Given the description of an element on the screen output the (x, y) to click on. 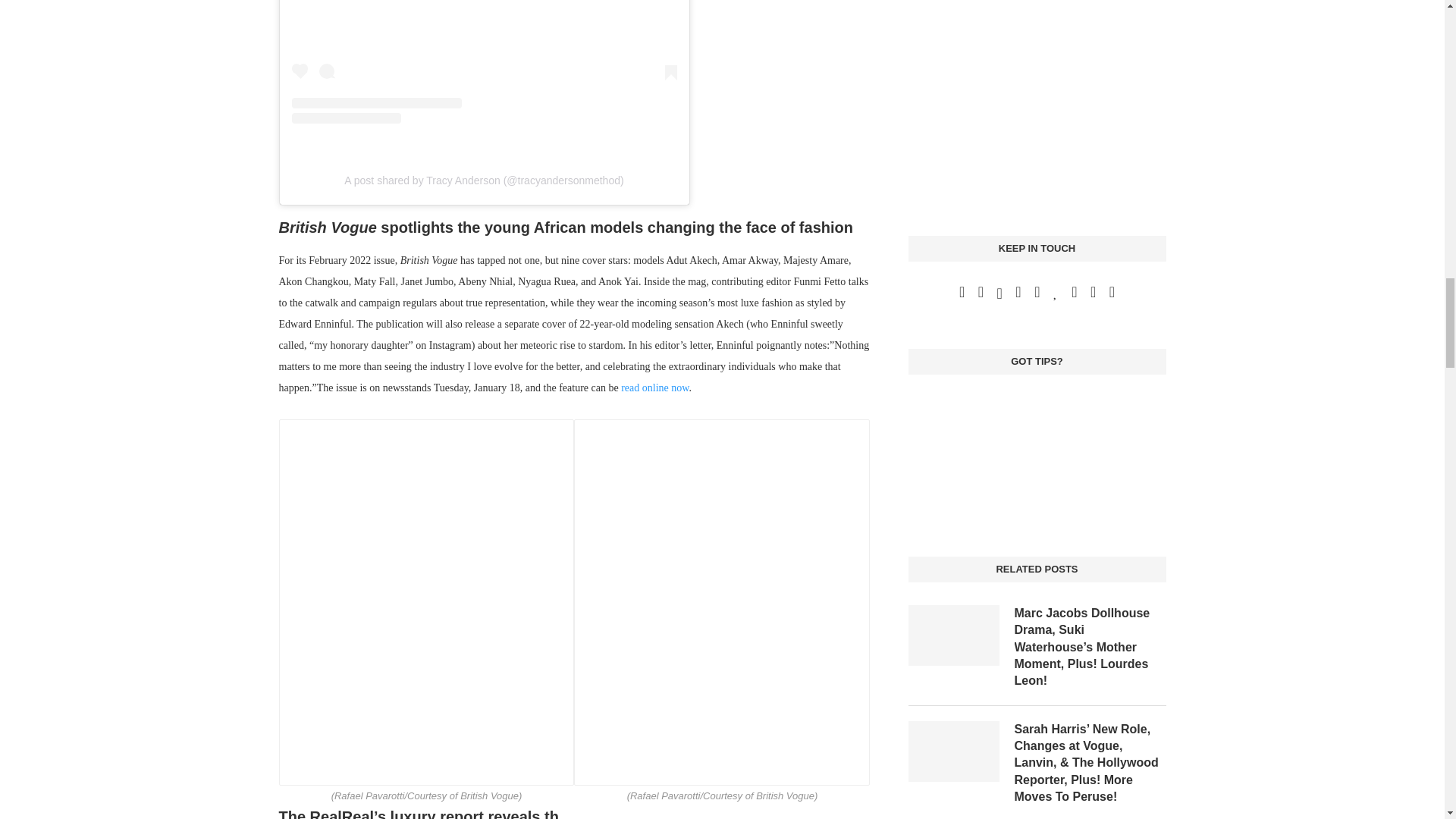
read online now (654, 387)
